Given the description of an element on the screen output the (x, y) to click on. 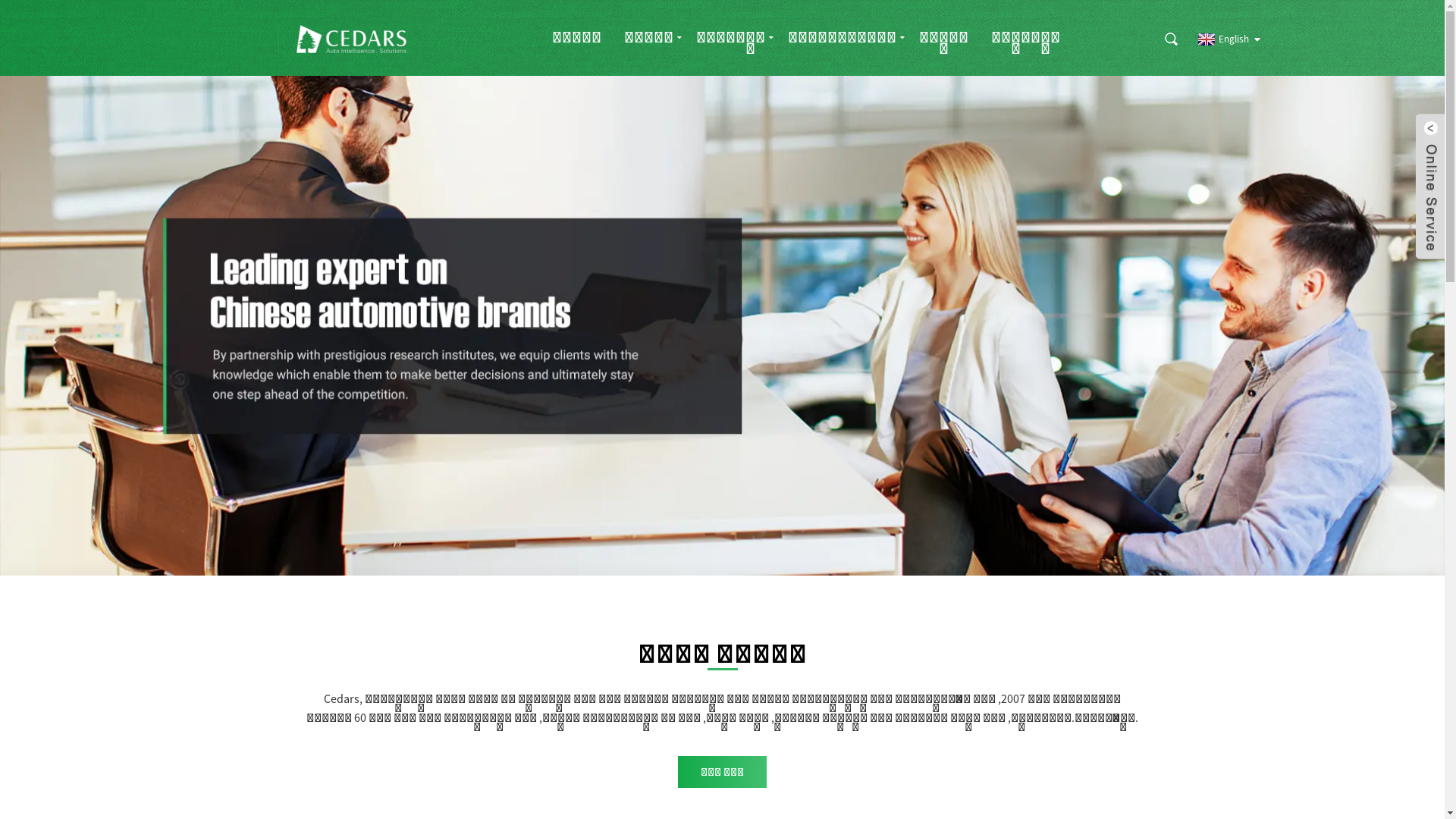
English Element type: text (1220, 39)
